Given the description of an element on the screen output the (x, y) to click on. 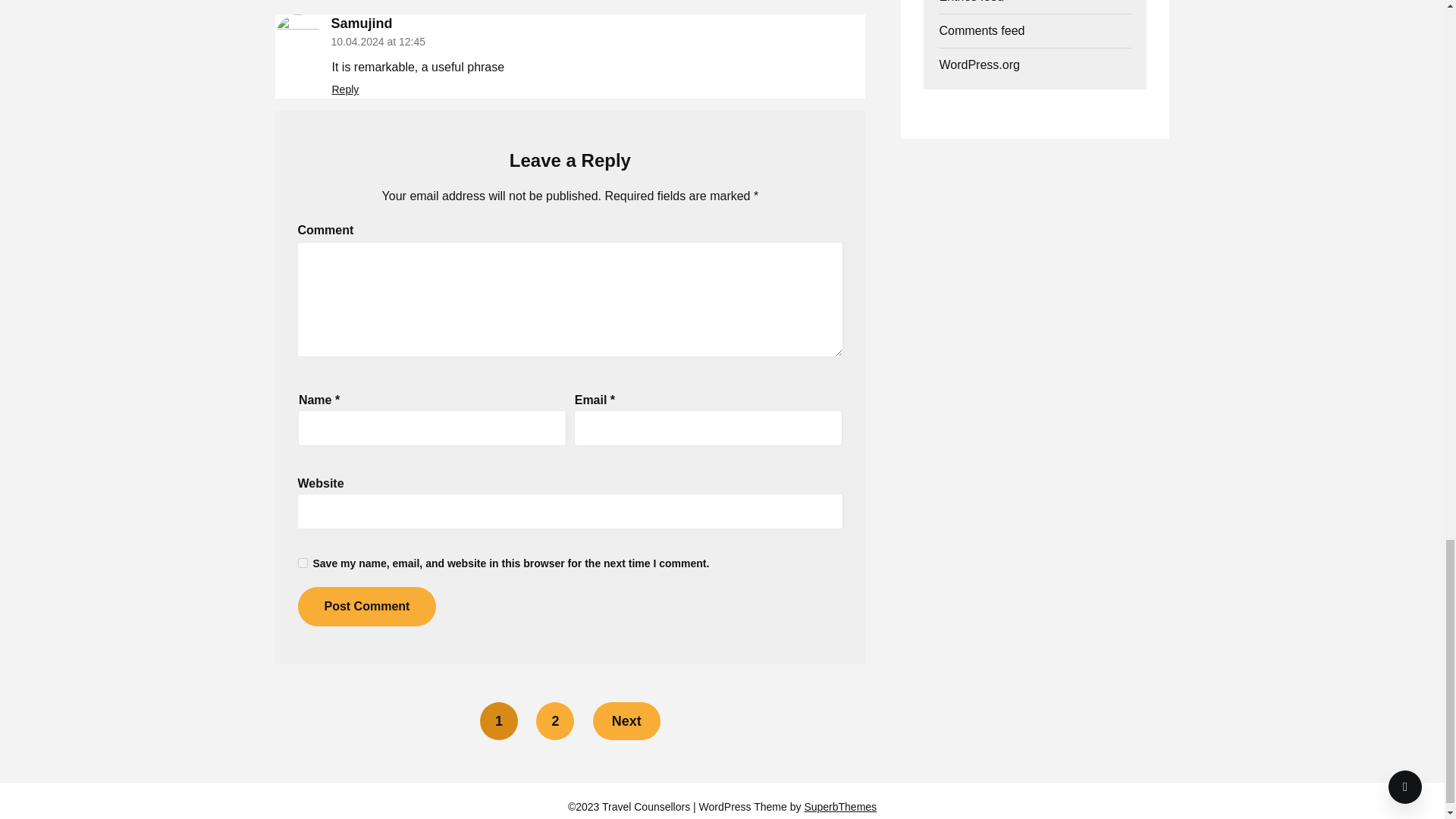
10.04.2024 at 12:45 (377, 41)
Post Comment (366, 606)
Reply (345, 89)
yes (302, 562)
2 (554, 720)
Next (626, 720)
Post Comment (366, 606)
